Given the description of an element on the screen output the (x, y) to click on. 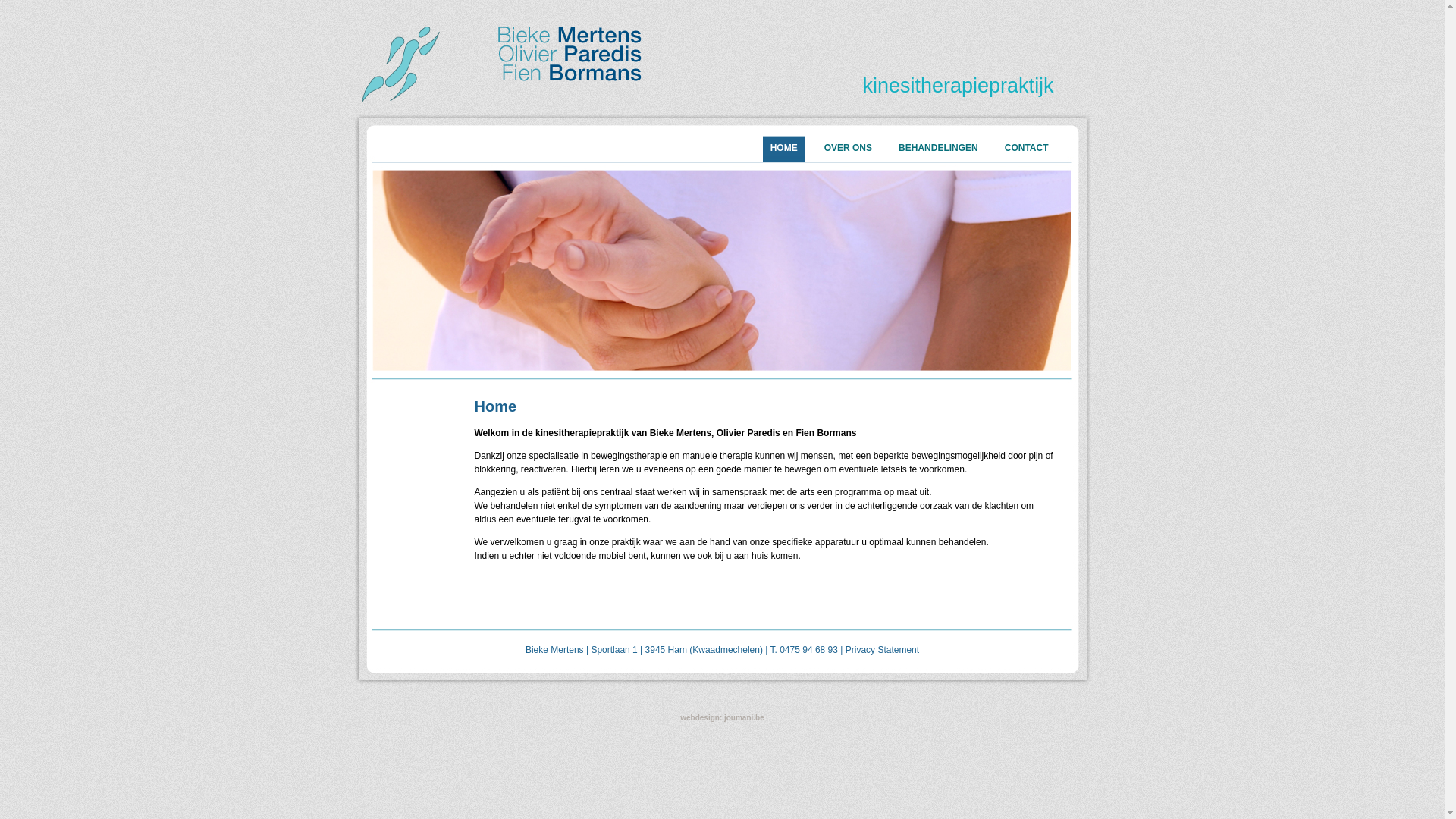
CONTACT Element type: text (1026, 147)
OVER ONS Element type: text (847, 147)
HOME Element type: text (783, 147)
BEHANDELINGEN Element type: text (938, 147)
Privacy Statement Element type: text (882, 649)
kinesitherapiepraktijk Element type: text (958, 85)
webdesign: joumani.be Element type: text (722, 717)
